Given the description of an element on the screen output the (x, y) to click on. 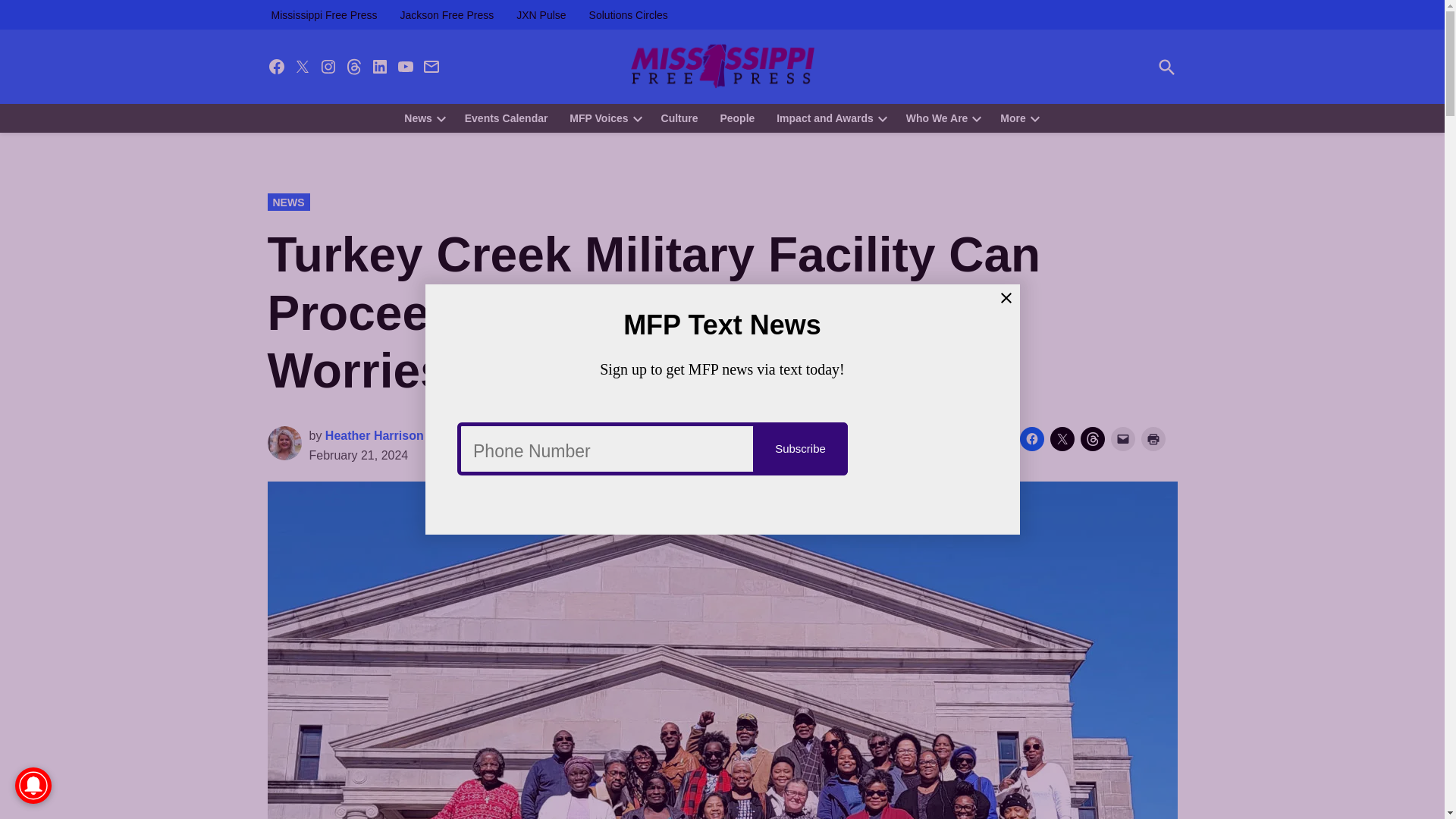
Click to share on Threads (1091, 438)
Click to print (1152, 438)
Click to share on X (1061, 438)
Click to share on Facebook (1031, 438)
Click to email a link to a friend (1121, 438)
